Given the description of an element on the screen output the (x, y) to click on. 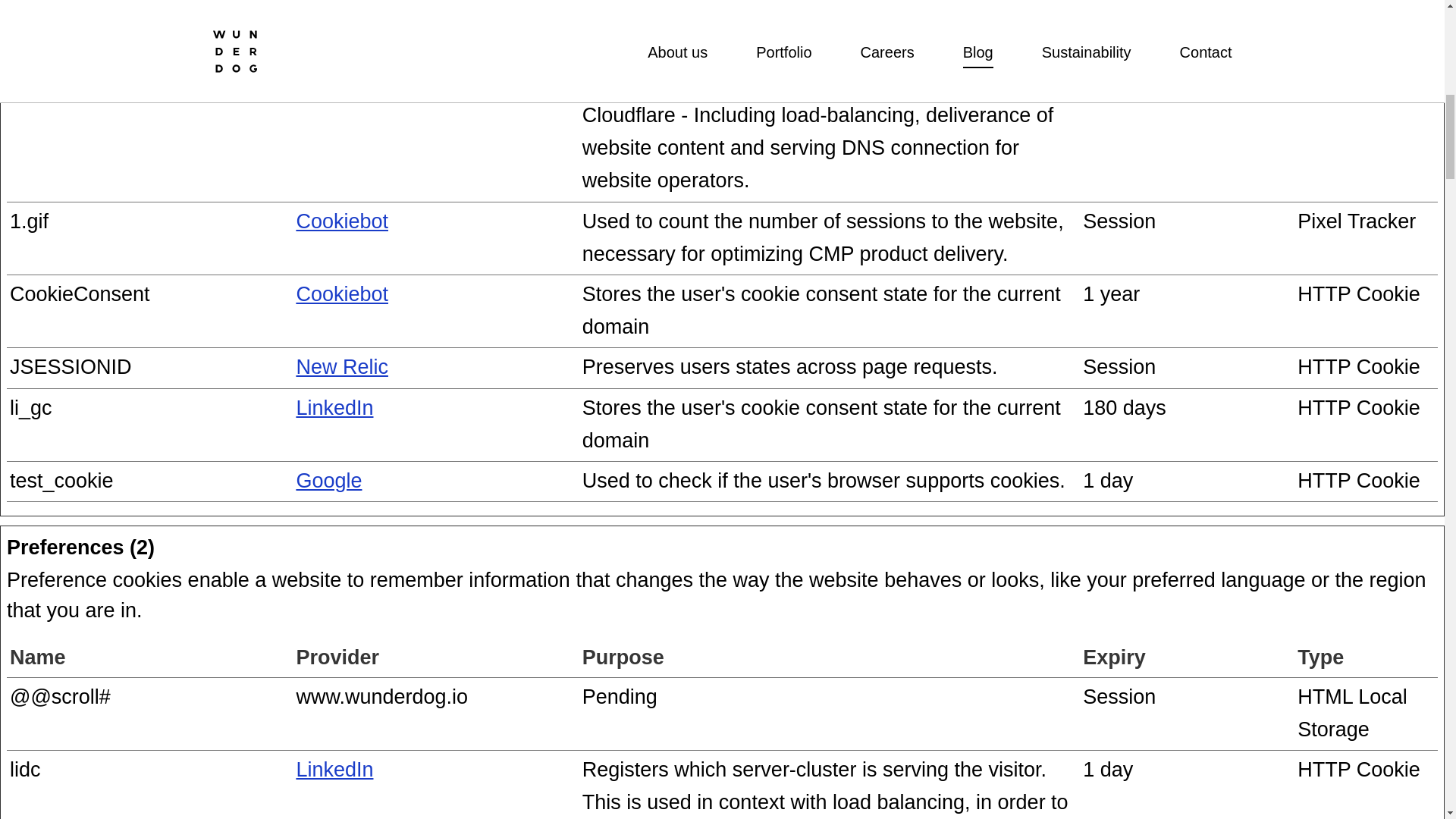
Cookiebot's privacy policy (341, 220)
LinkedIn's privacy policy (333, 769)
Google's privacy policy (328, 480)
LinkedIn (333, 406)
New Relic (341, 366)
Google (328, 480)
Hubspot (333, 82)
Cookiebot (341, 220)
LinkedIn's privacy policy (333, 406)
Cookiebot's privacy policy (341, 293)
